Given the description of an element on the screen output the (x, y) to click on. 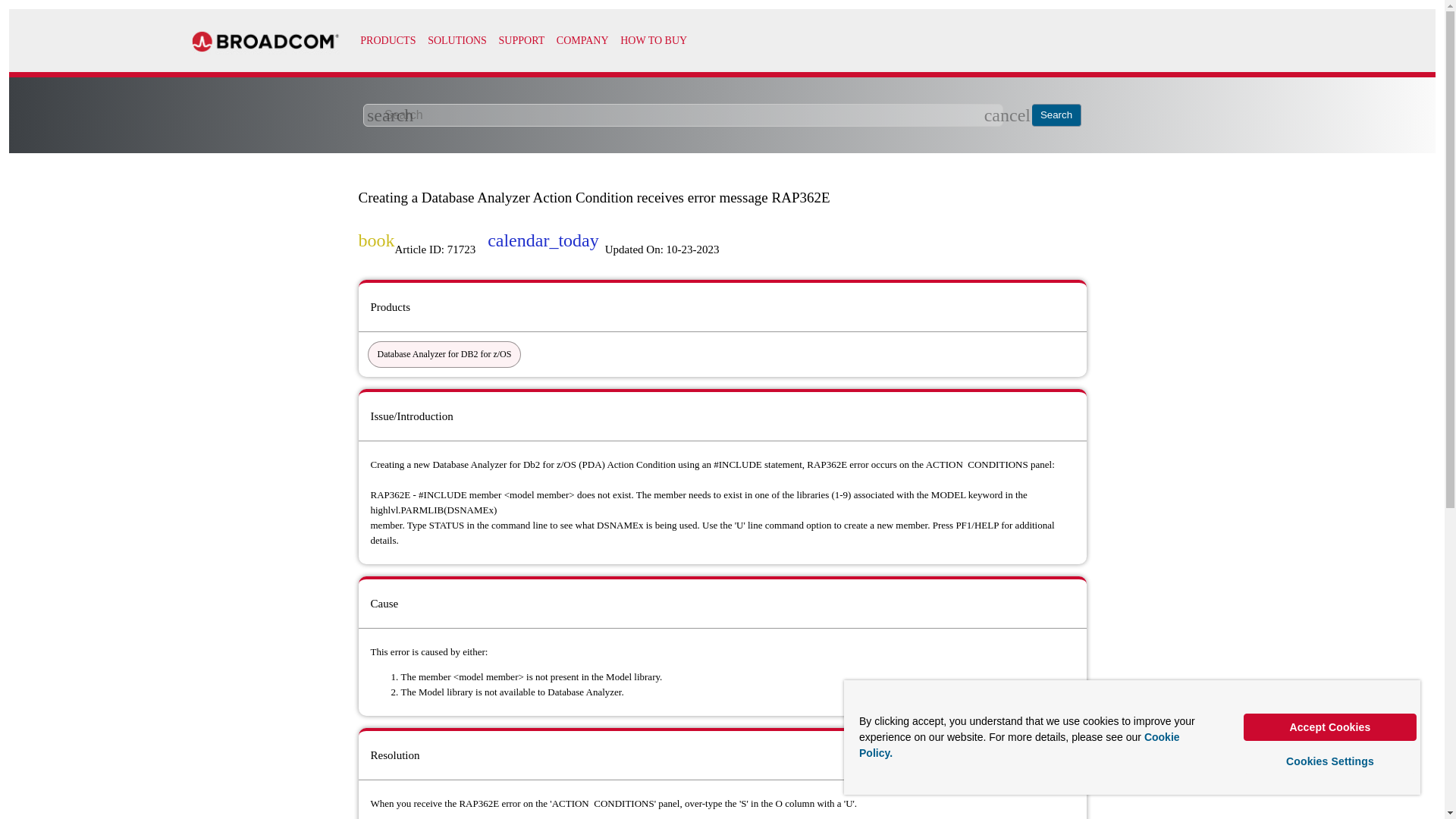
Cookie Policy. (1019, 745)
Accept Cookies (1329, 727)
Search (1056, 115)
Cookies Settings (1329, 760)
